Given the description of an element on the screen output the (x, y) to click on. 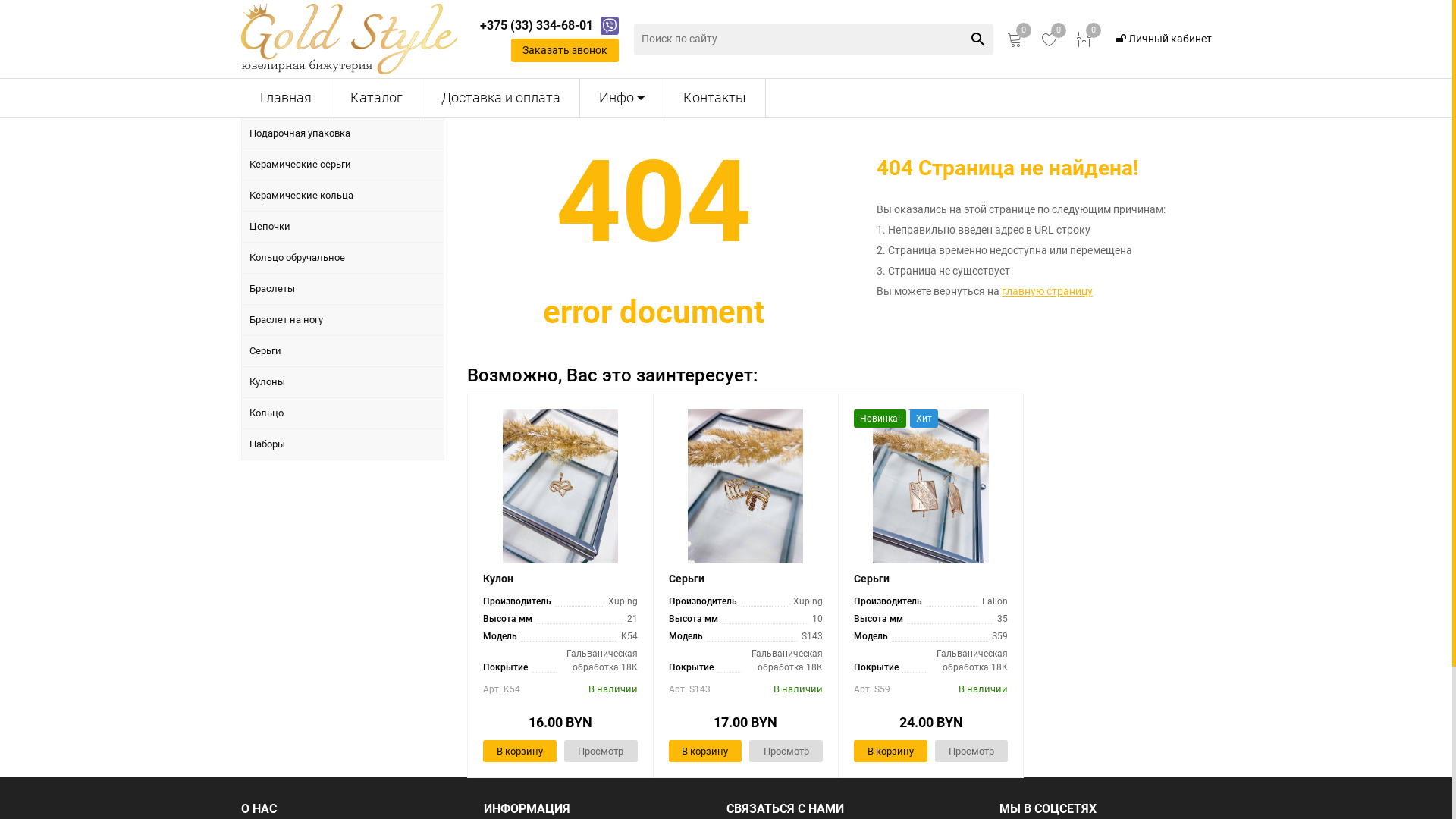
0 Element type: text (1014, 39)
search Element type: text (978, 39)
+375 (33) 334-68-01 Element type: text (535, 25)
0 Element type: text (1049, 39)
0 Element type: text (1084, 39)
